Given the description of an element on the screen output the (x, y) to click on. 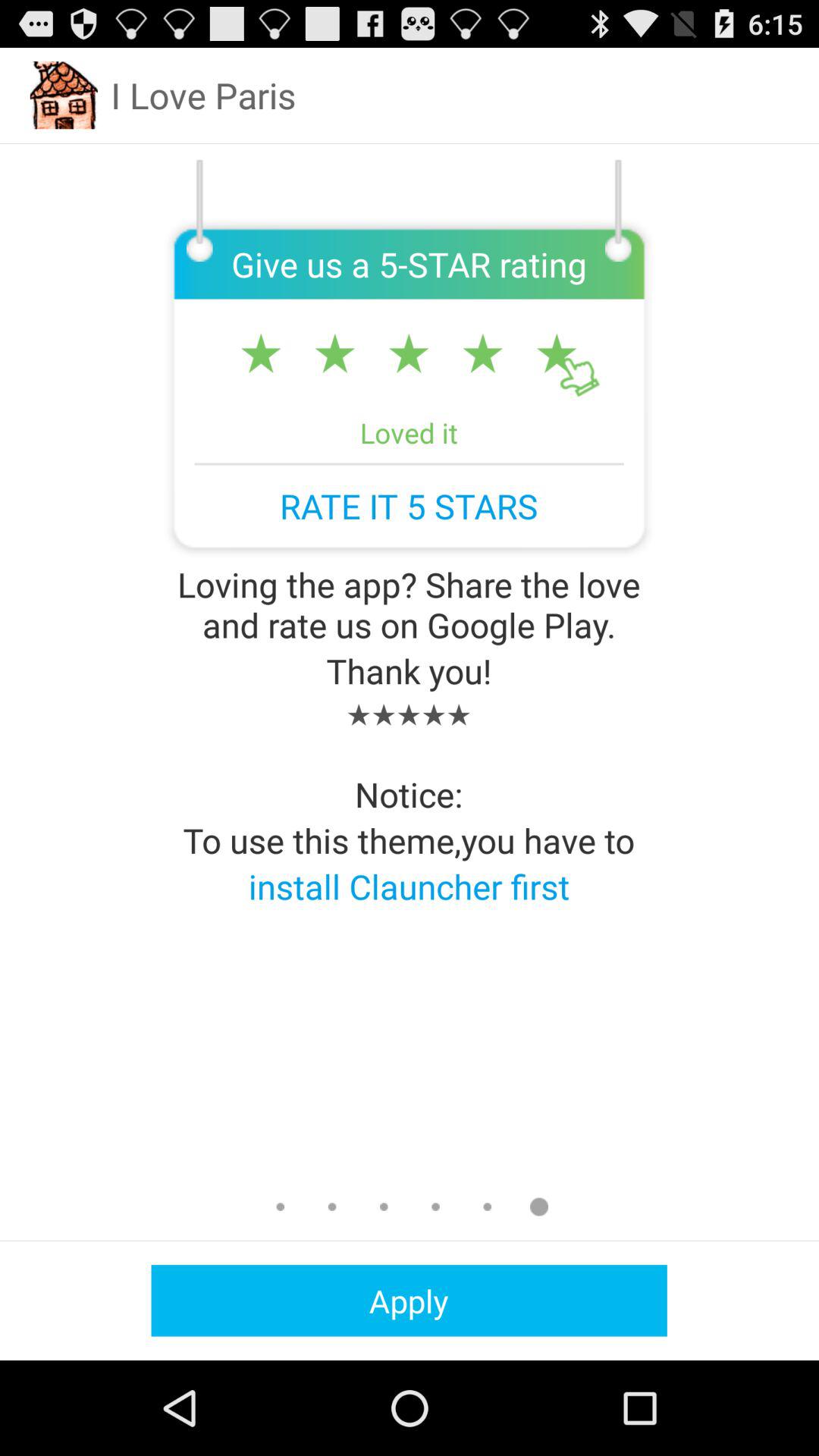
turn on the app below to use this (409, 886)
